Given the description of an element on the screen output the (x, y) to click on. 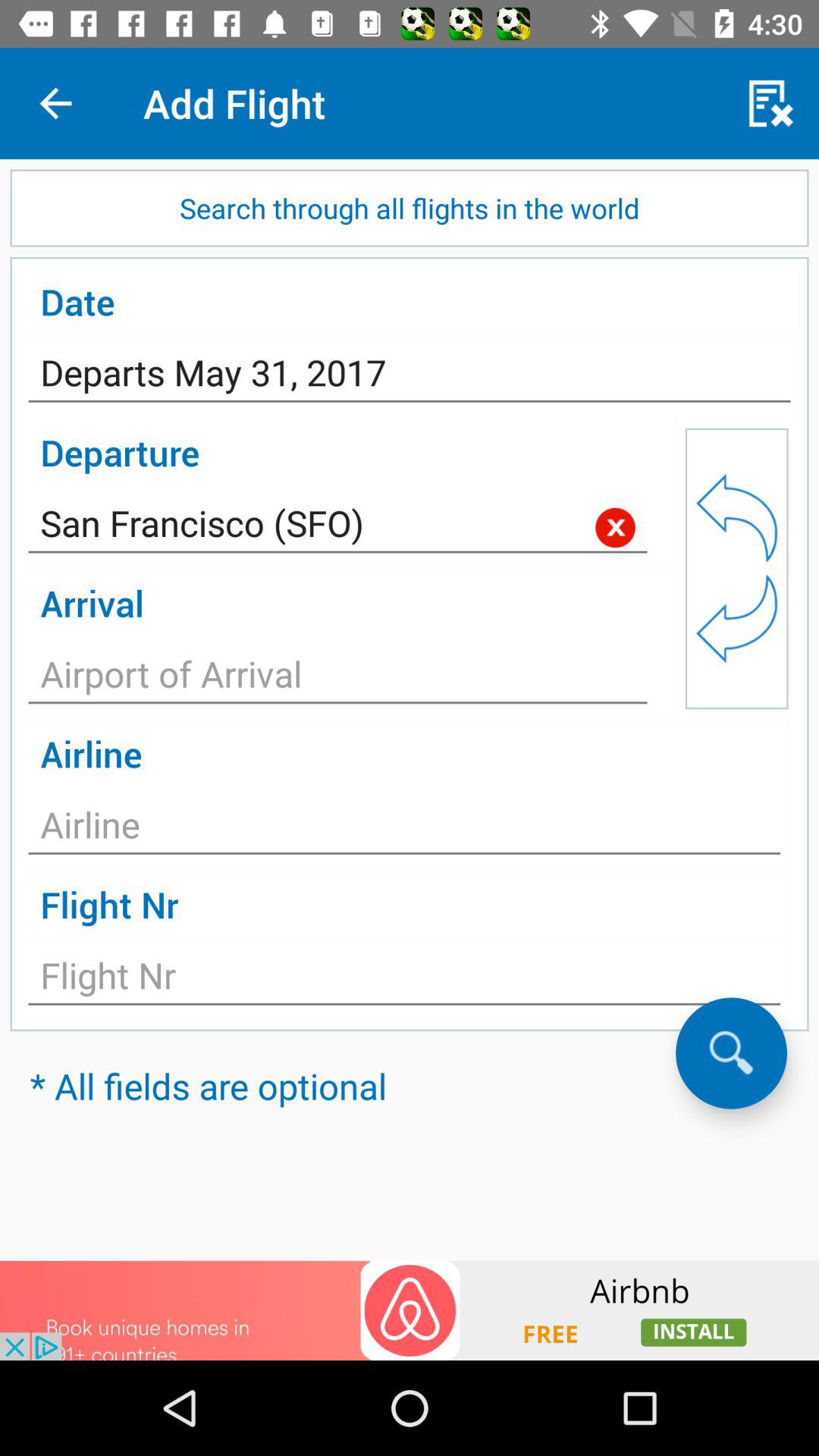
enter airport name (337, 678)
